Given the description of an element on the screen output the (x, y) to click on. 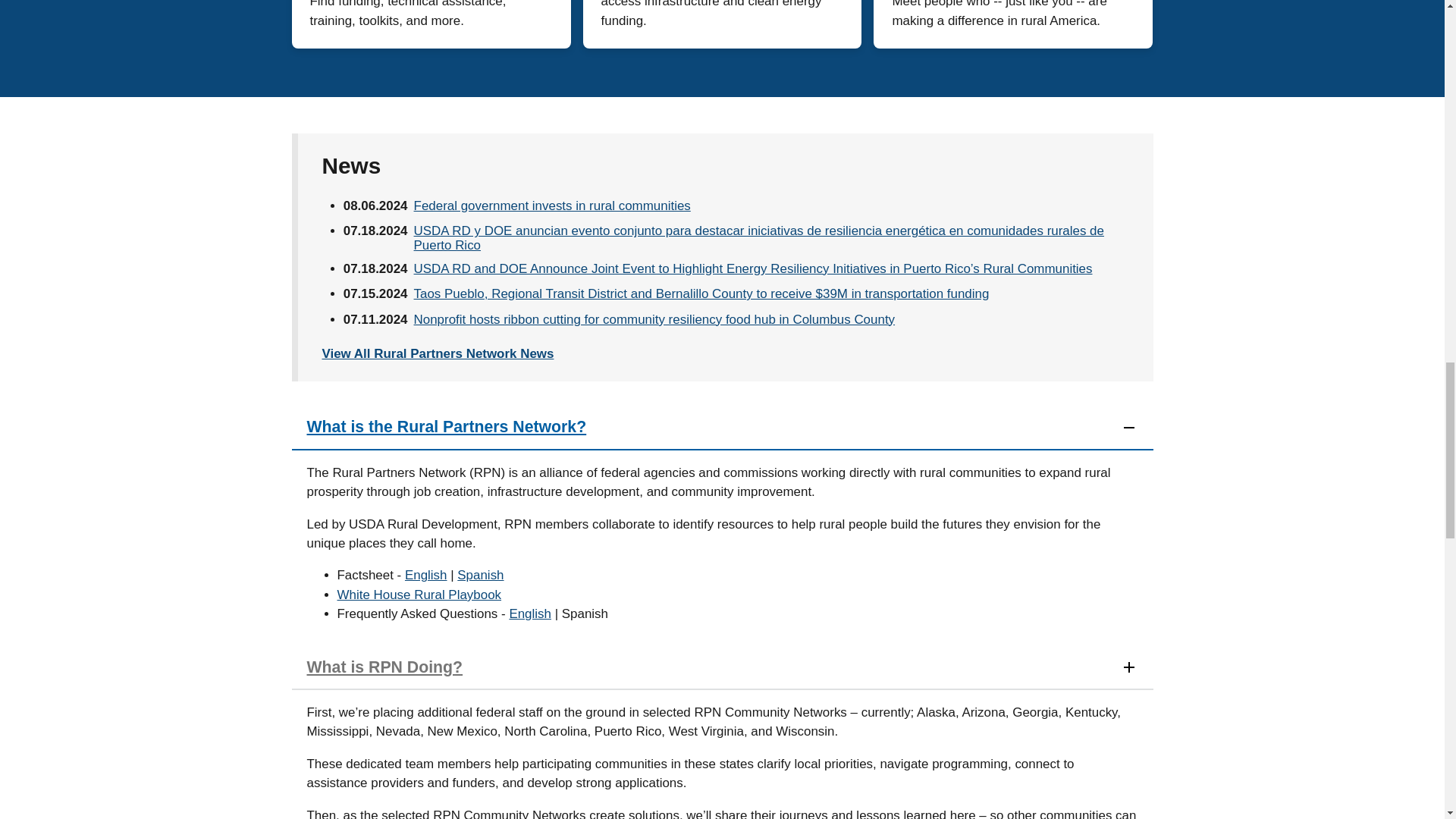
Federal government invests in rural communities (551, 205)
What is RPN Doing? (722, 668)
What is the Rural Partners Network? (722, 427)
Spanish (480, 575)
English (425, 575)
White House Rural Playbook (418, 594)
View All Rural Partners Network News (437, 353)
English (529, 613)
